Given the description of an element on the screen output the (x, y) to click on. 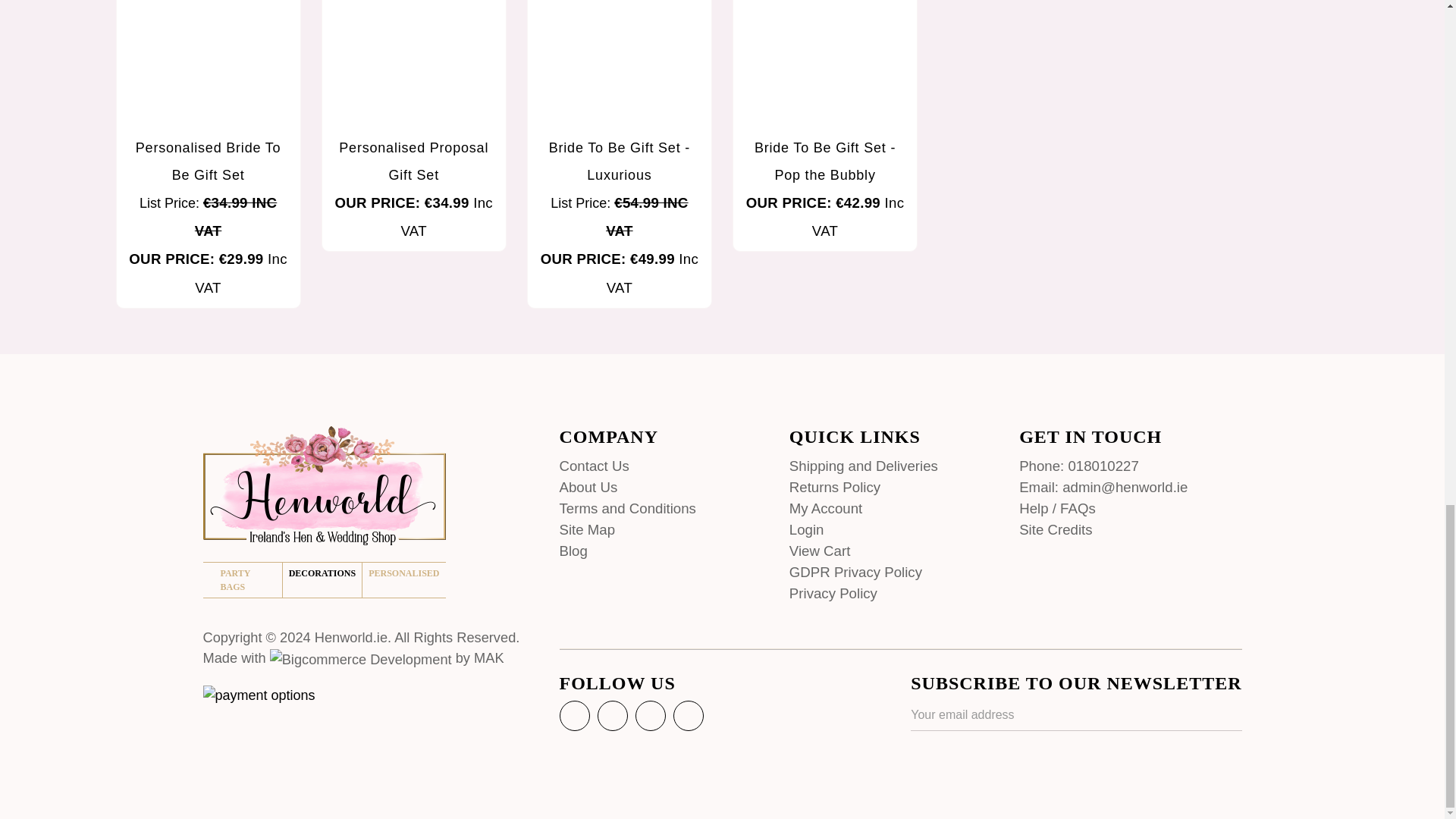
Bride To Be Gift Set - Pop the Bubbly (825, 63)
Personalised Bride To Be Gift Set (207, 63)
Personalised Proposal Gift Set (413, 63)
Bride To Be Gift Set - Luxurious (619, 63)
Bigcommerce Development (360, 659)
